Given the description of an element on the screen output the (x, y) to click on. 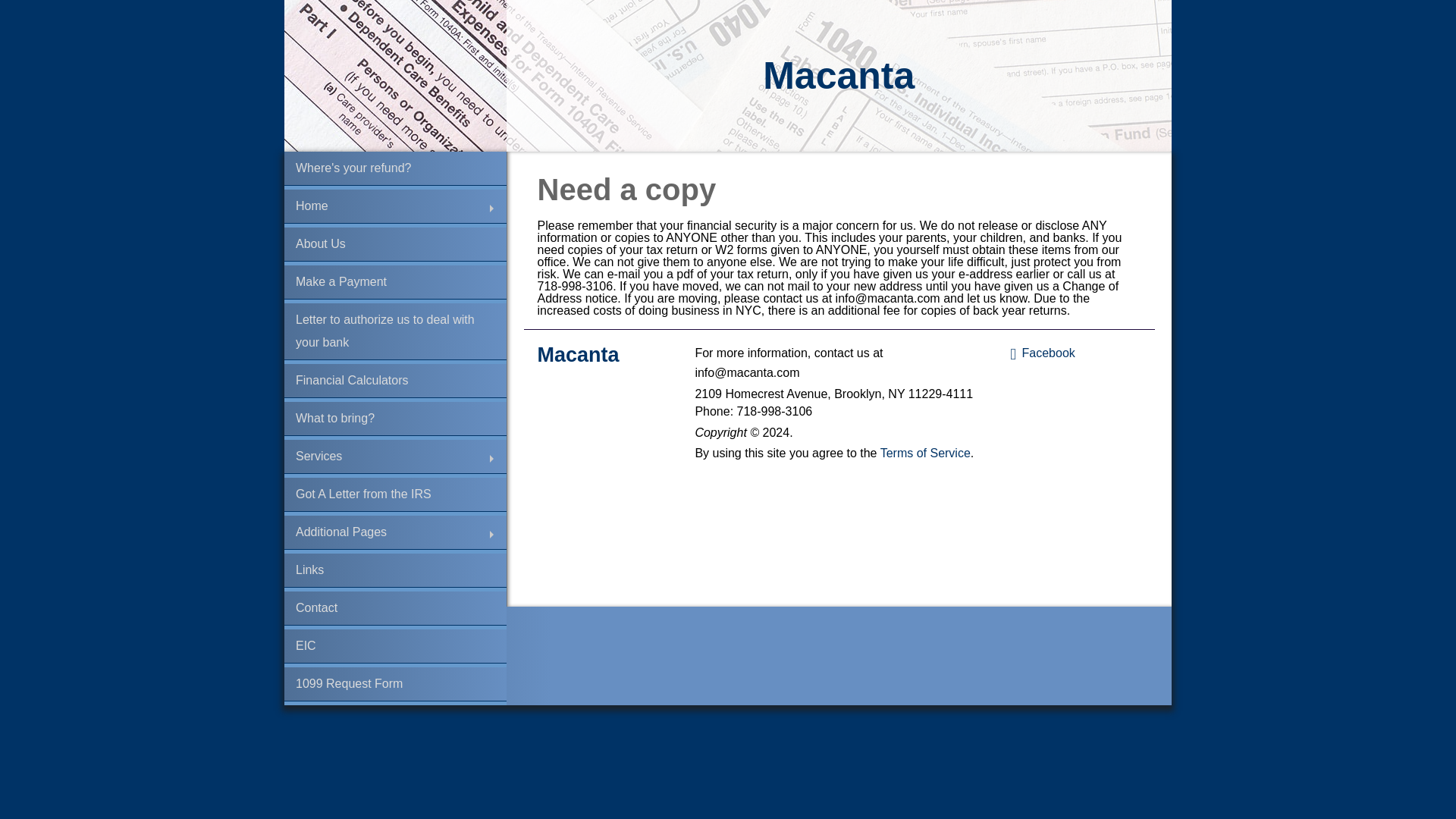
Additional Pages (394, 532)
What to bring? (394, 418)
Got A Letter from the IRS (394, 494)
EIC (394, 646)
1099 Request Form (394, 684)
Facebook (1075, 353)
Contact (394, 608)
Links (394, 570)
Make a Payment (394, 282)
Where's your refund? (394, 168)
